Given the description of an element on the screen output the (x, y) to click on. 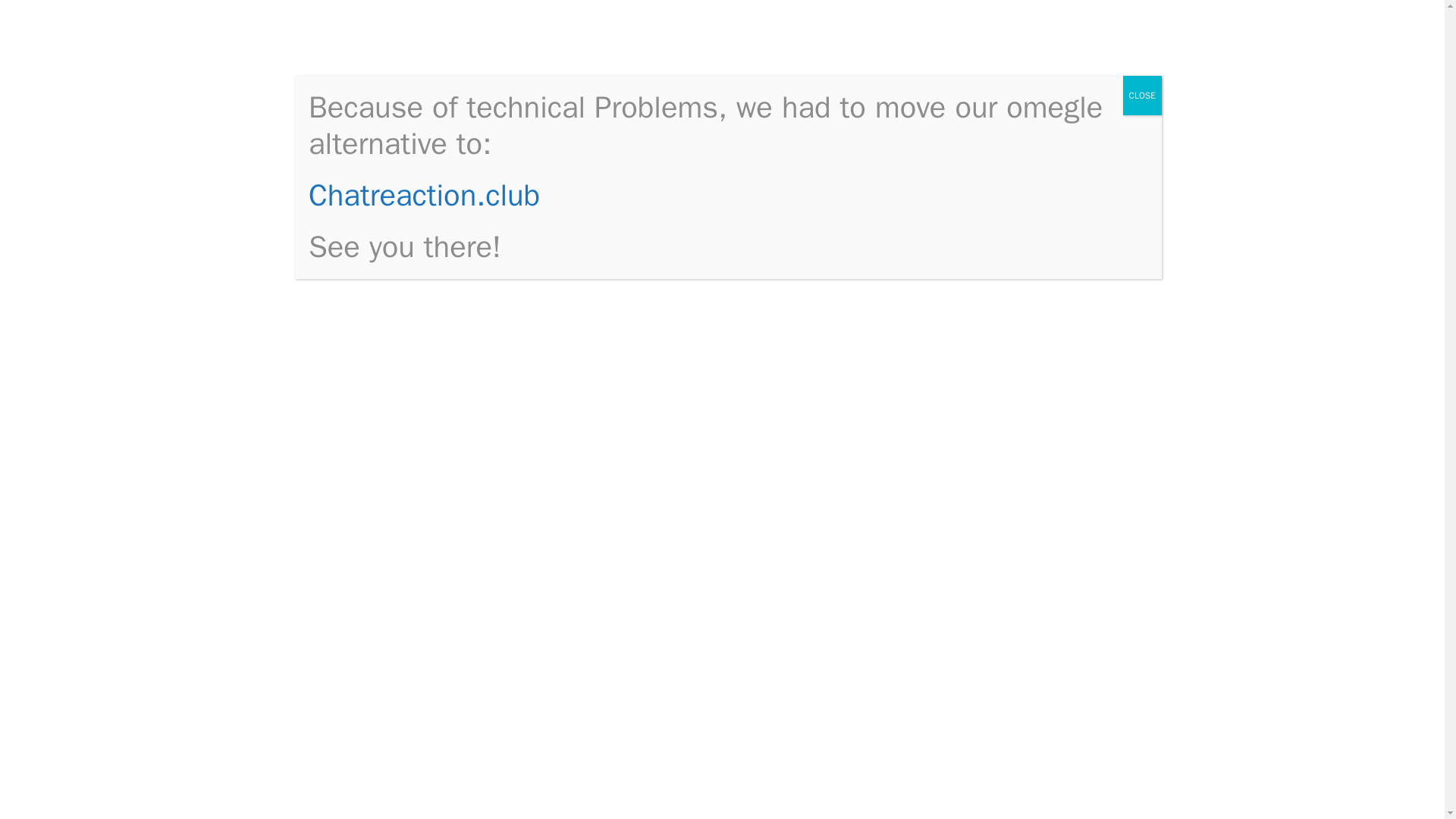
Free online anonymous chat (1026, 294)
Chat with people all over the world (1030, 252)
04:36 (364, 213)
Alternative video chat (1020, 537)
Chat world we are here to talk (1032, 360)
coolest webcams (433, 50)
Chat rooms with profiles (410, 413)
batter (542, 354)
Chat rooms with profiles (1029, 583)
Free cam4cam (1002, 514)
